Given the description of an element on the screen output the (x, y) to click on. 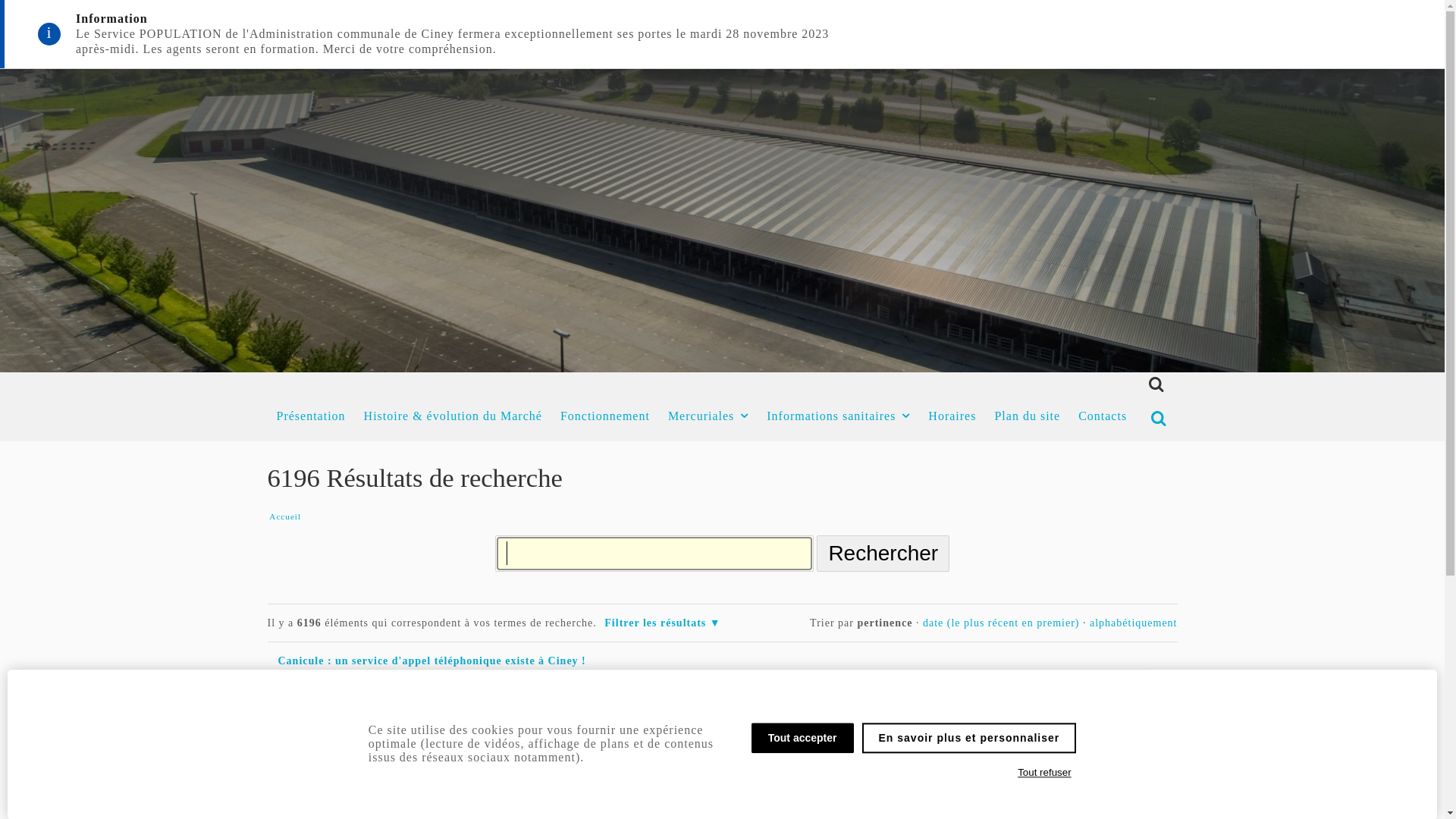
Plan du site Element type: text (1027, 415)
Annuaire Element type: text (378, 761)
Chercher Element type: text (1151, 384)
Rechercher Element type: text (882, 553)
Accueil Element type: text (285, 516)
Horaires Element type: text (952, 415)
Mercuriales Element type: text (707, 415)
En savoir plus et personnaliser Element type: text (968, 737)
Images Element type: text (372, 718)
Fonctionnement Element type: text (604, 415)
Informations sanitaires Element type: text (838, 415)
Tout accepter Element type: text (802, 737)
Chercher Element type: text (1155, 418)
Chercher dans le site Element type: hover (654, 553)
Tout refuser Element type: text (1044, 772)
Contacts Element type: text (1102, 415)
Jules2018 ok Element type: text (317, 703)
Jeunesse Element type: text (455, 803)
DE SMEDT MARIE-CHANTAL Element type: text (366, 745)
